Given the description of an element on the screen output the (x, y) to click on. 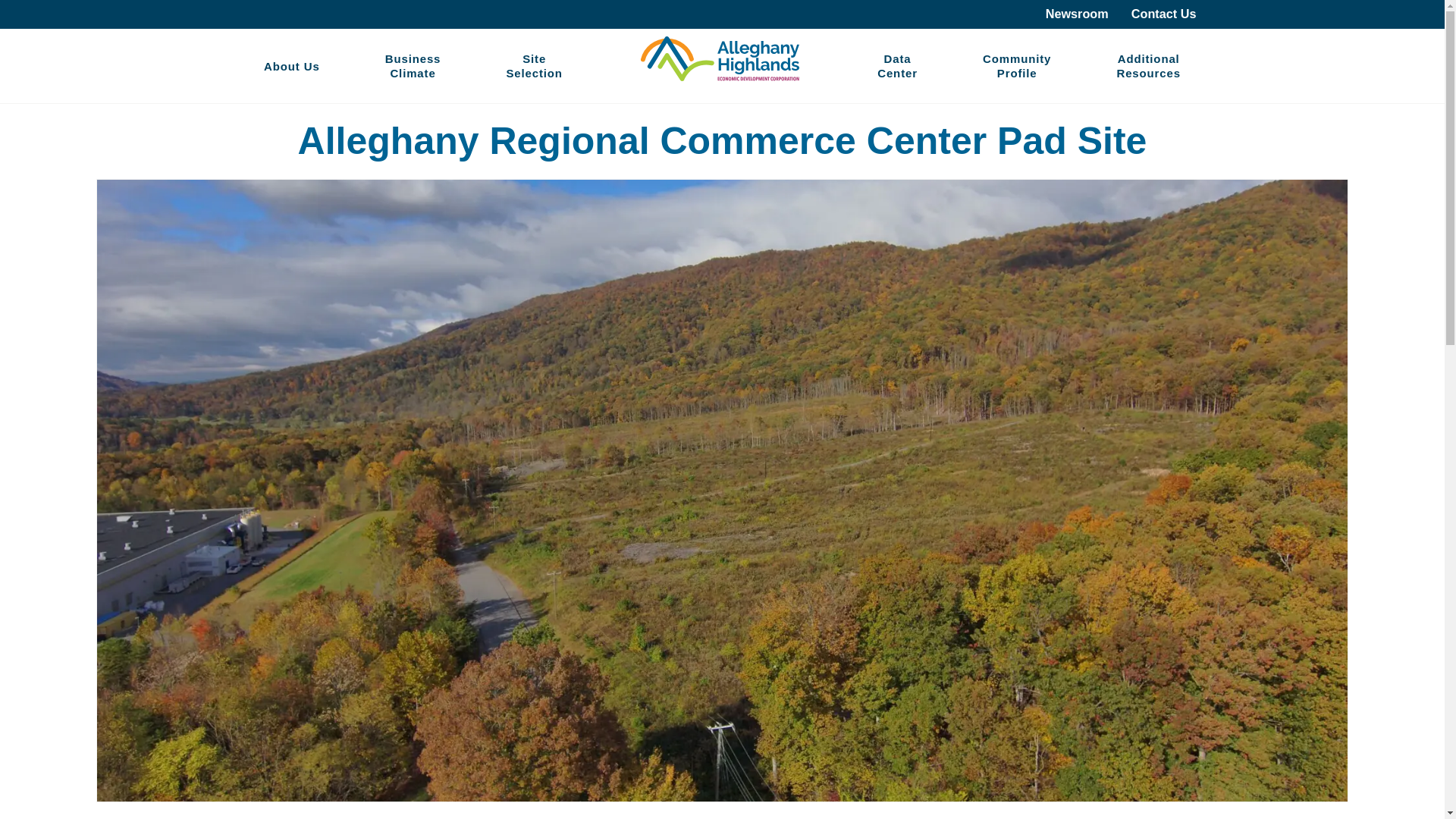
Contact Us (1148, 65)
Newsroom (1016, 65)
About Us (533, 65)
